Given the description of an element on the screen output the (x, y) to click on. 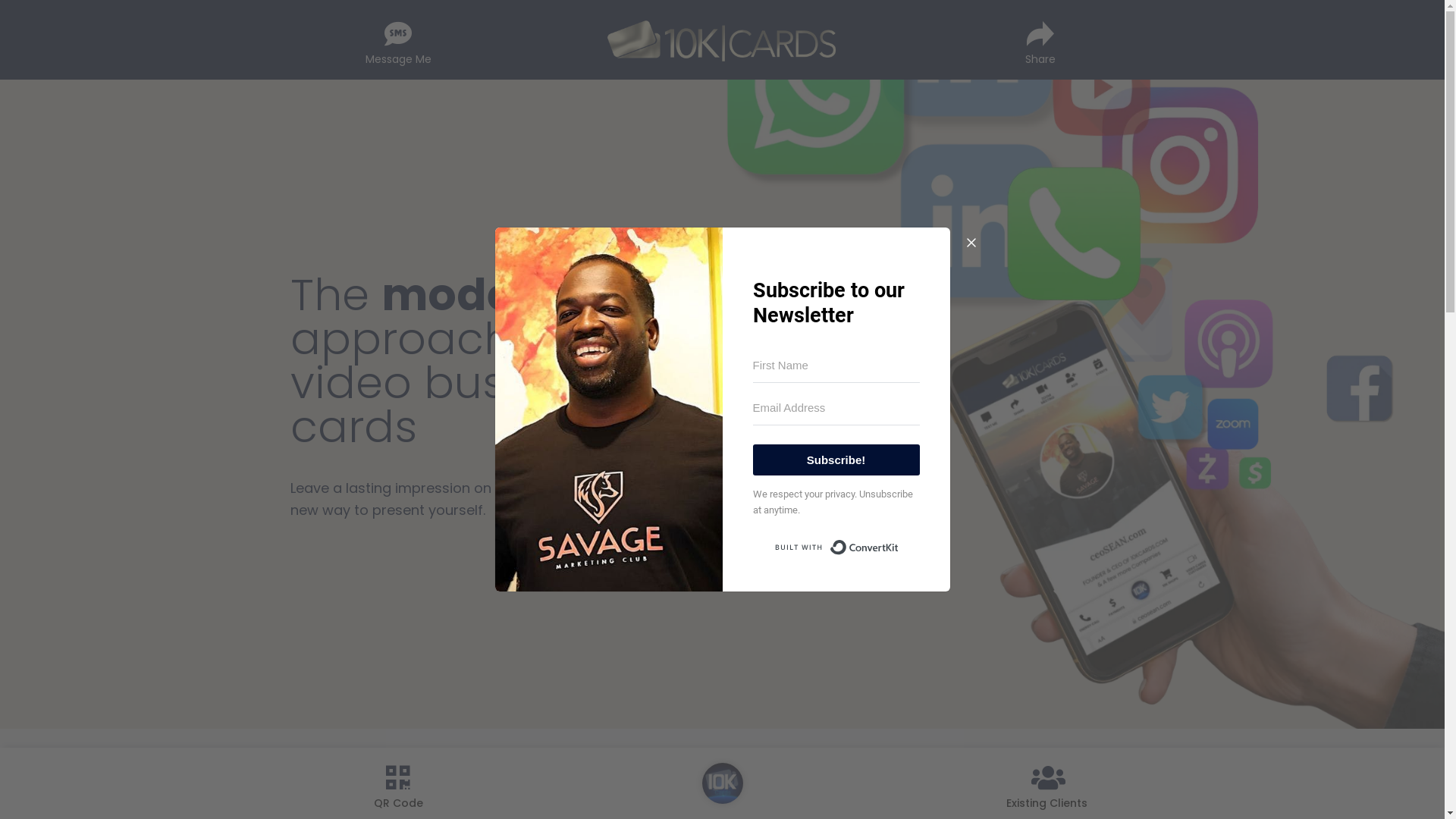
Message Me Element type: text (397, 39)
QR Code Element type: text (397, 783)
Subscribe! Element type: text (835, 459)
Built with ConvertKit Element type: text (836, 547)
Existing Clients Element type: text (1046, 783)
